Given the description of an element on the screen output the (x, y) to click on. 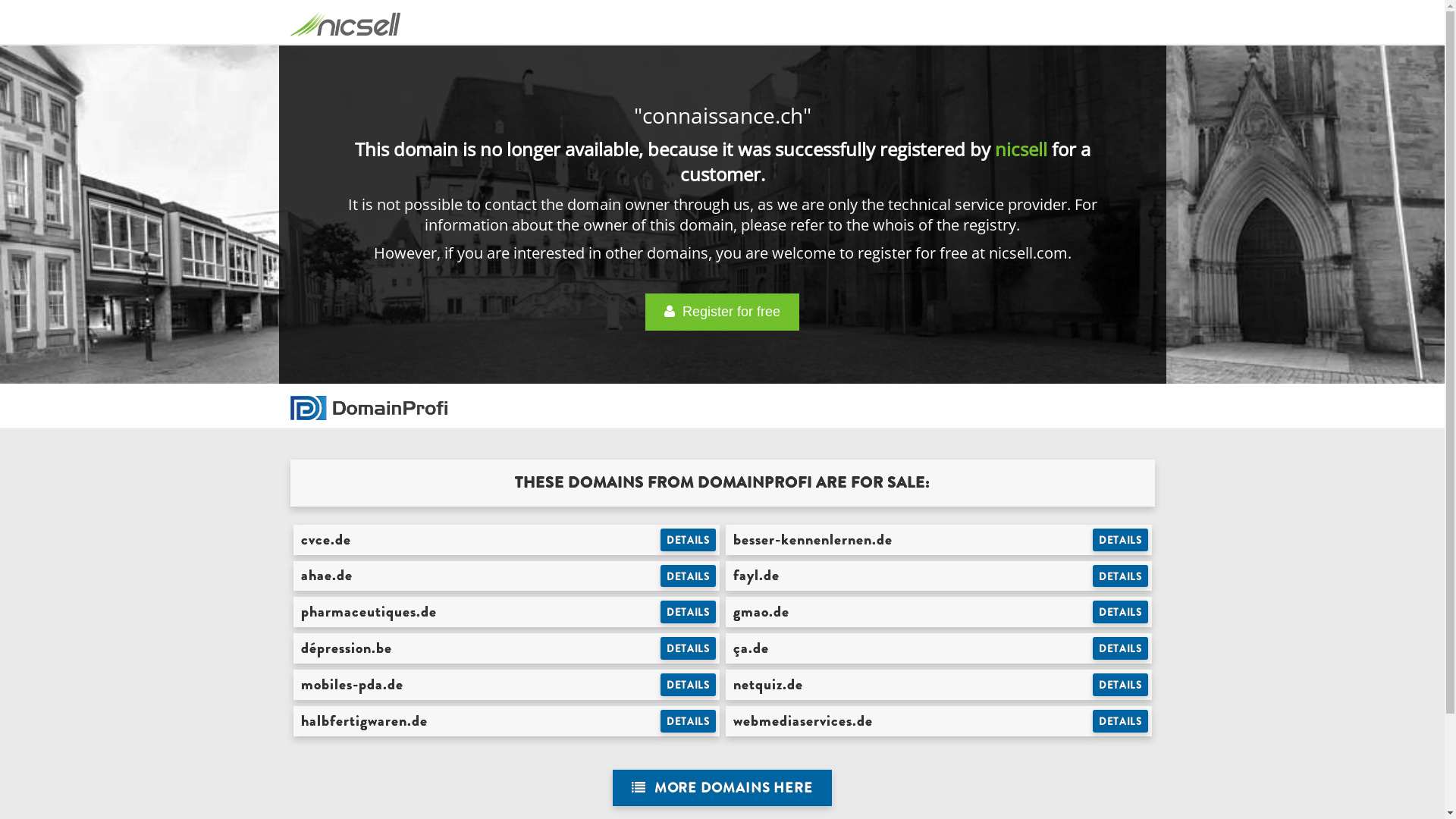
DETAILS Element type: text (1120, 720)
DETAILS Element type: text (1120, 539)
DETAILS Element type: text (1120, 684)
DETAILS Element type: text (1120, 575)
DETAILS Element type: text (1120, 648)
DETAILS Element type: text (1120, 611)
DETAILS Element type: text (687, 648)
DETAILS Element type: text (687, 575)
DETAILS Element type: text (687, 720)
DETAILS Element type: text (687, 684)
nicsell Element type: text (1020, 148)
DETAILS Element type: text (687, 611)
  Register for free Element type: text (722, 311)
DETAILS Element type: text (687, 539)
  MORE DOMAINS HERE Element type: text (721, 787)
